Given the description of an element on the screen output the (x, y) to click on. 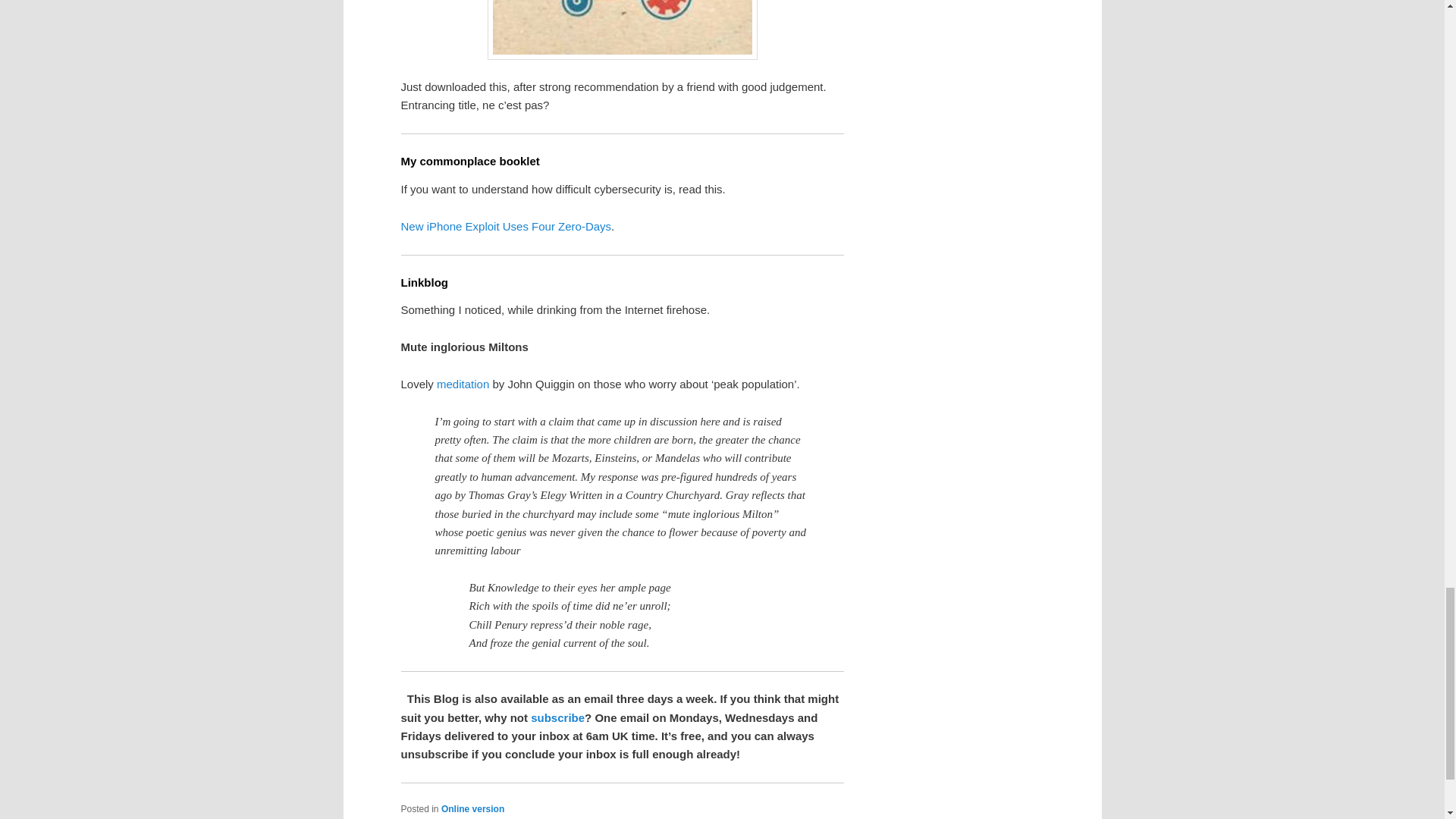
New iPhone Exploit Uses Four Zero-Days (505, 226)
Online version (472, 808)
meditation (462, 383)
subscribe (558, 717)
